Given the description of an element on the screen output the (x, y) to click on. 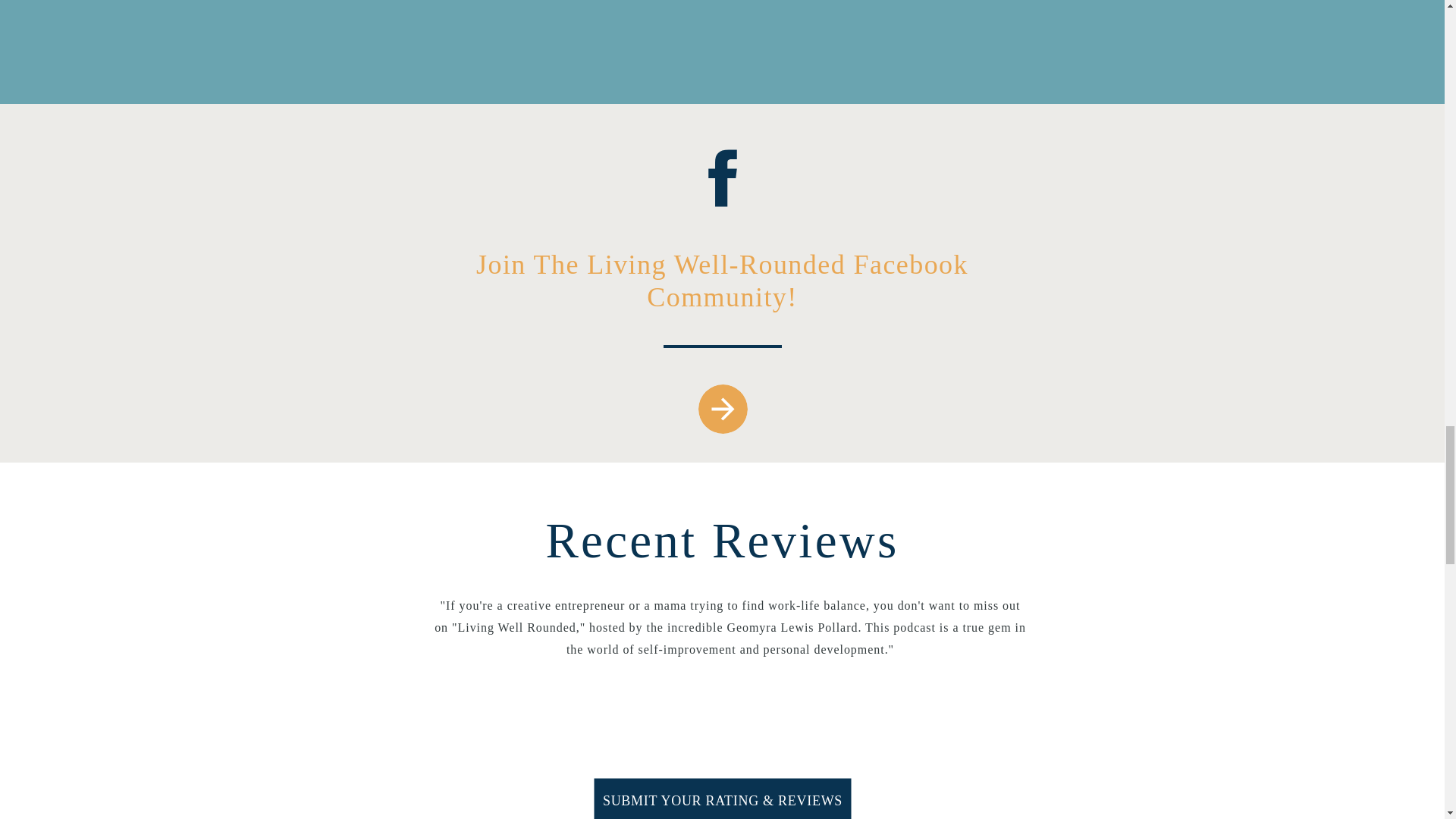
Join The Living Well-Rounded Facebook Community! (721, 283)
